Given the description of an element on the screen output the (x, y) to click on. 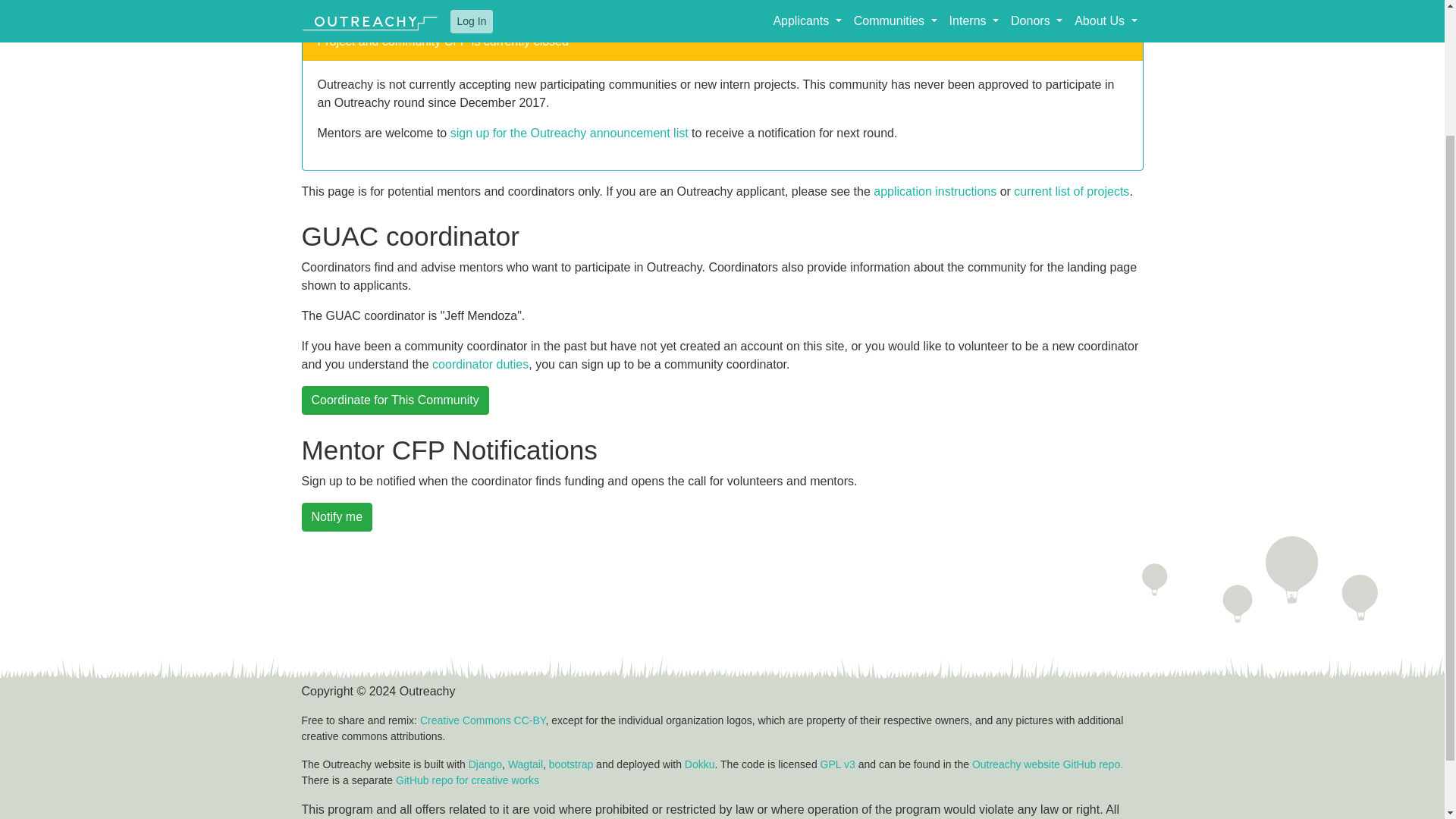
Creative Commons CC-BY (482, 720)
read the Community Call for Participation page (885, 3)
application instructions (934, 191)
Coordinate for This Community (395, 399)
current list of projects (1071, 191)
Notify me (336, 516)
sign up for the Outreachy announcement list (568, 132)
coordinator duties (480, 364)
